Given the description of an element on the screen output the (x, y) to click on. 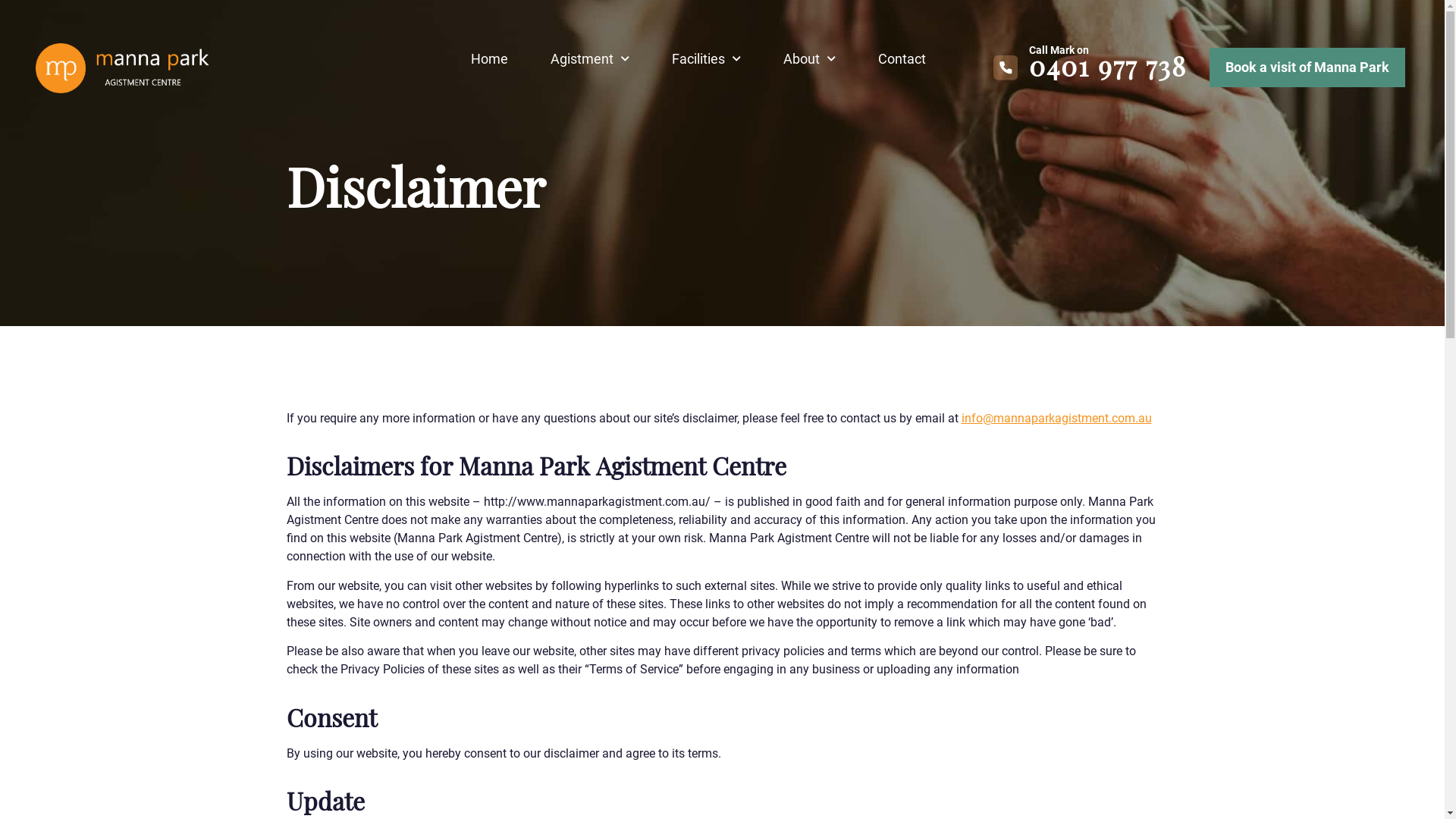
Agistment Element type: text (589, 58)
0401 977 738 Element type: text (1107, 65)
Facilities Element type: text (706, 58)
Home Element type: text (489, 58)
Book a visit of Manna Park Element type: text (1307, 67)
info@mannaparkagistment.com.au Element type: text (1056, 418)
Contact Element type: text (901, 58)
About Element type: text (809, 58)
